Given the description of an element on the screen output the (x, y) to click on. 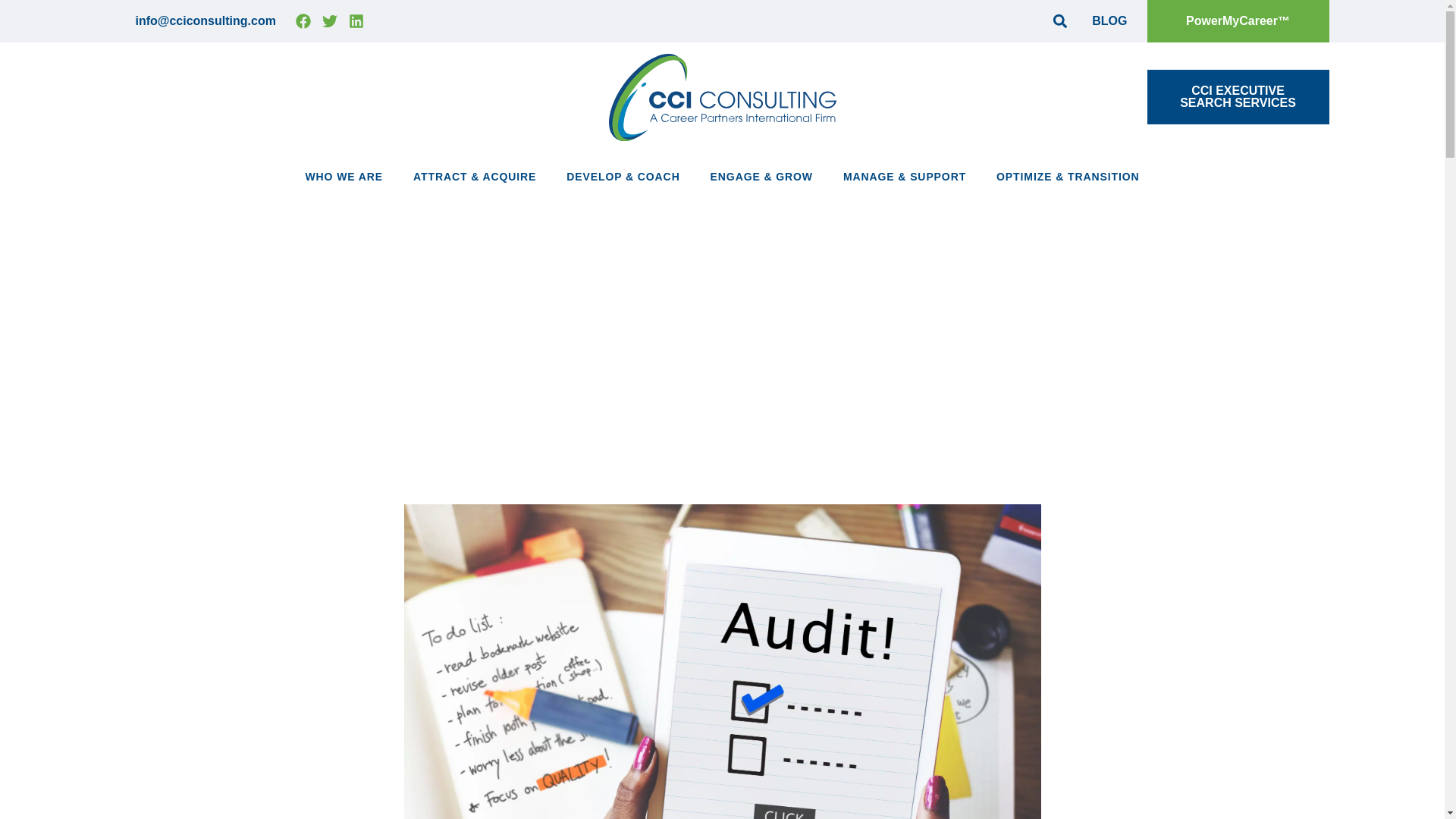
WHO WE ARE (1237, 96)
BLOG (343, 176)
